Given the description of an element on the screen output the (x, y) to click on. 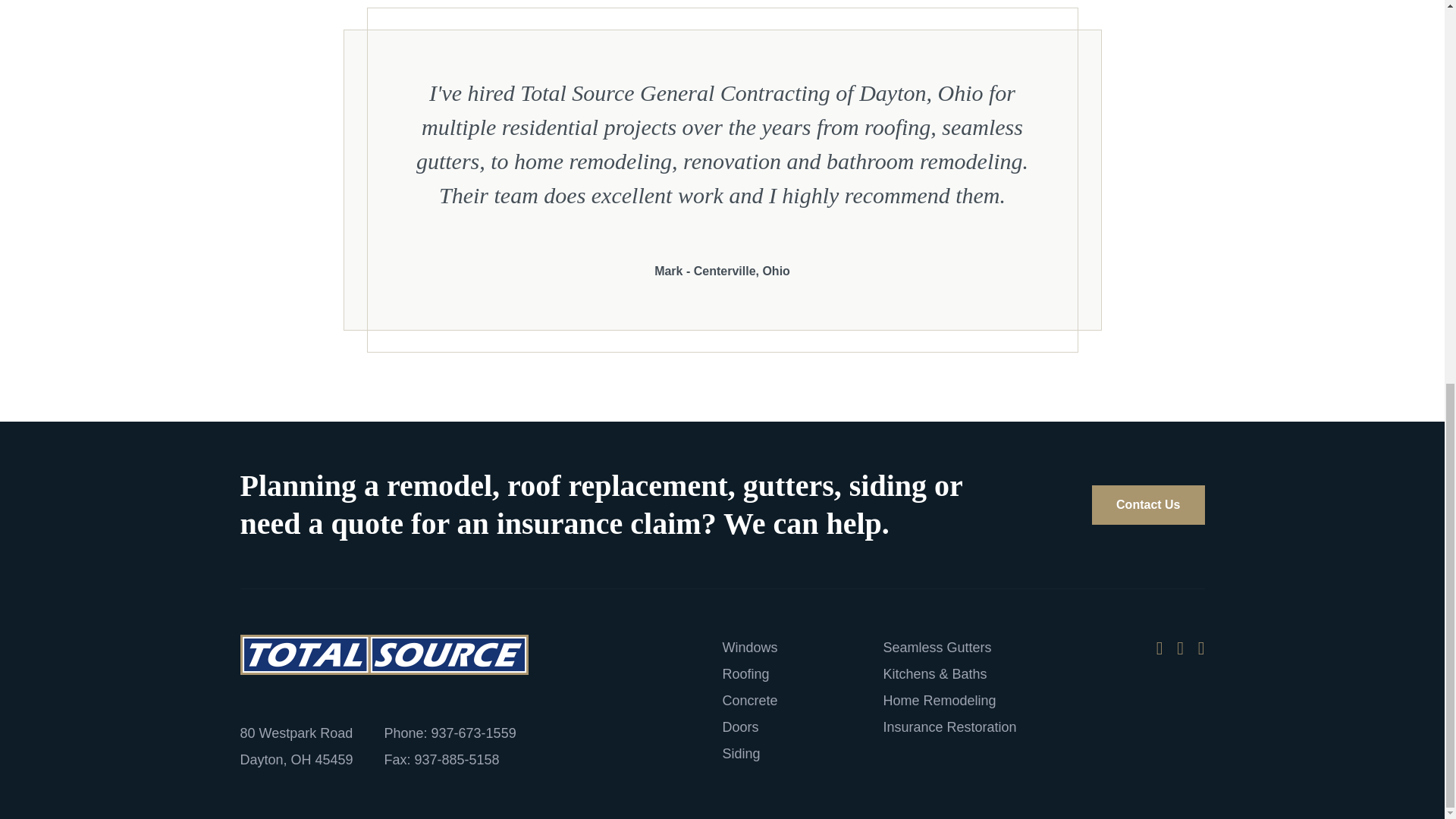
Seamless Gutters (936, 647)
Home Remodeling (938, 700)
Doors (740, 726)
Contact Us (1148, 504)
Siding (741, 753)
Insurance Restoration (949, 726)
Roofing (745, 673)
Windows (749, 647)
Concrete (749, 700)
